Given the description of an element on the screen output the (x, y) to click on. 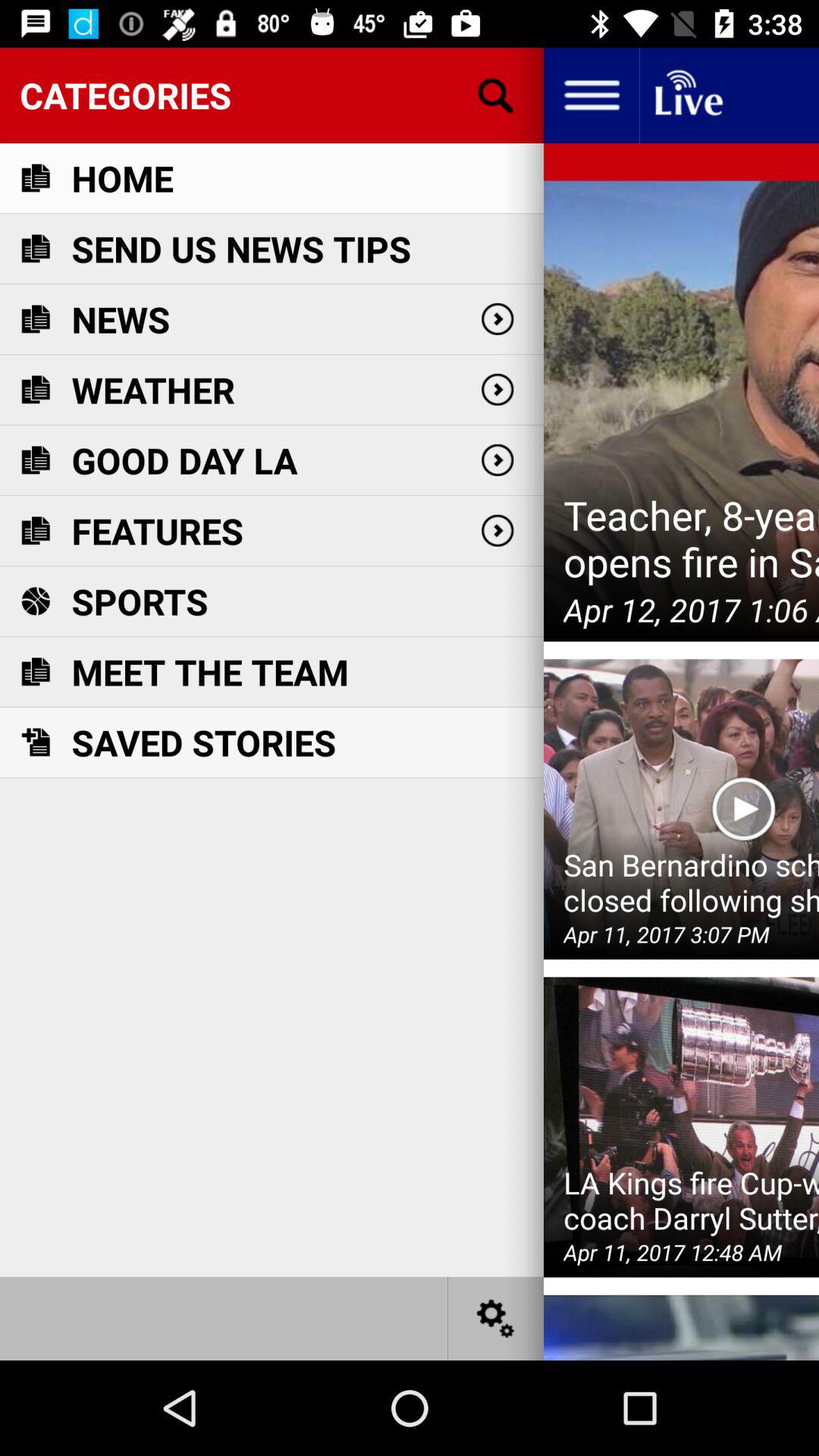
live broadcast (687, 95)
